Given the description of an element on the screen output the (x, y) to click on. 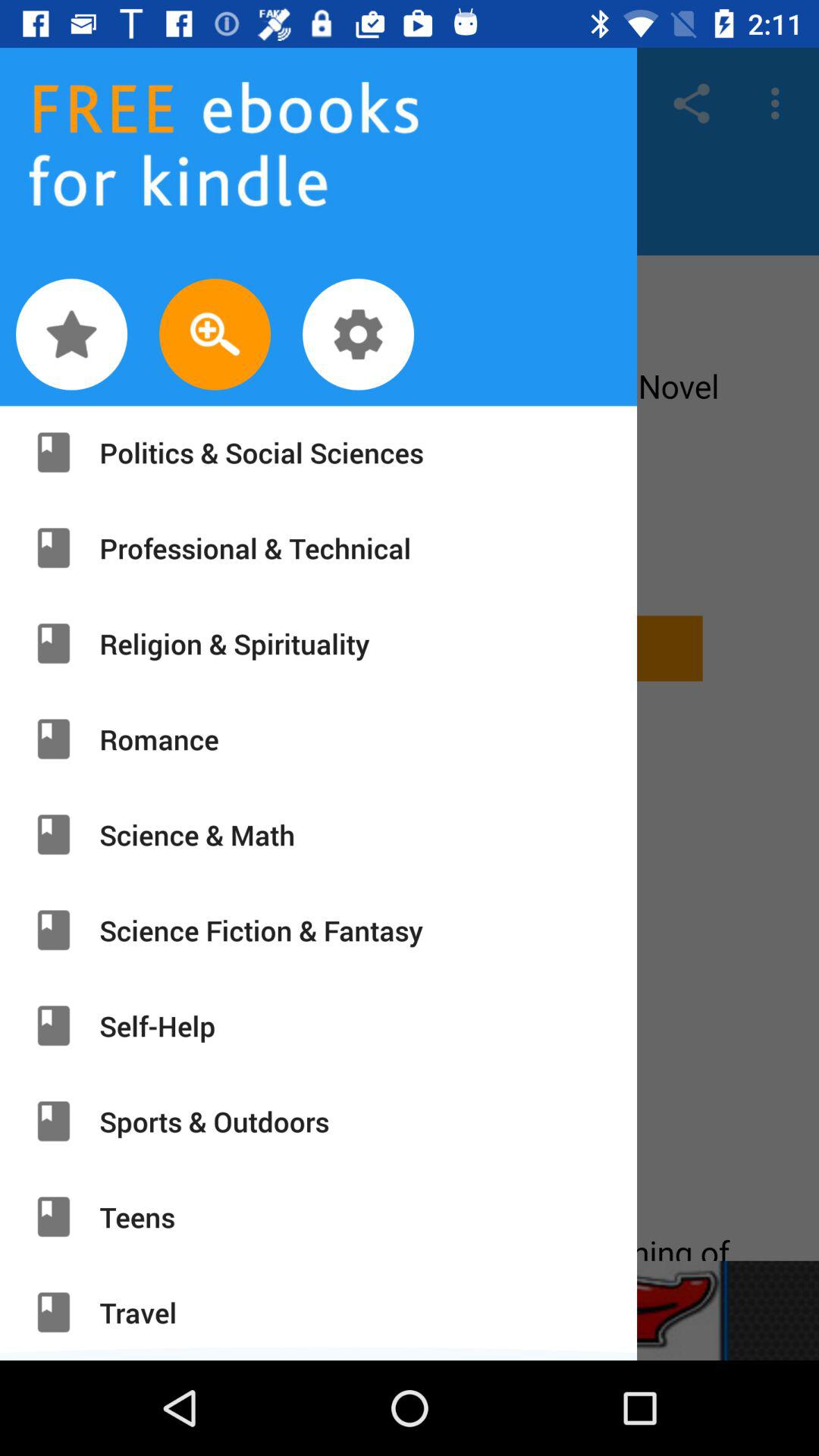
select the symbol beside share in the top right corner (779, 103)
share icon at top right corner (691, 103)
click on eighth icon from bottom (53, 644)
